Given the description of an element on the screen output the (x, y) to click on. 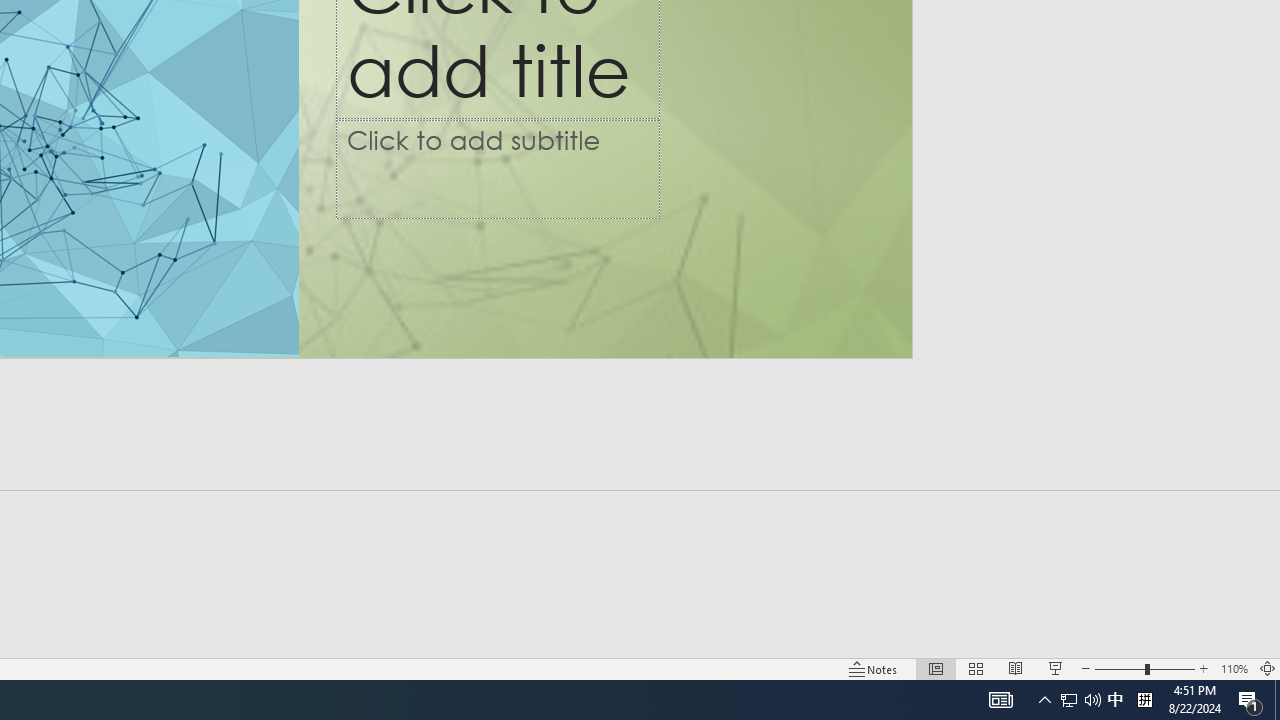
Zoom Out (1119, 668)
Normal (936, 668)
Zoom (1144, 668)
Slide Sorter (975, 668)
Zoom to Fit  (1267, 668)
Zoom 110% (1234, 668)
Notes  (874, 668)
Reading View (1015, 668)
Zoom In (1204, 668)
